Given the description of an element on the screen output the (x, y) to click on. 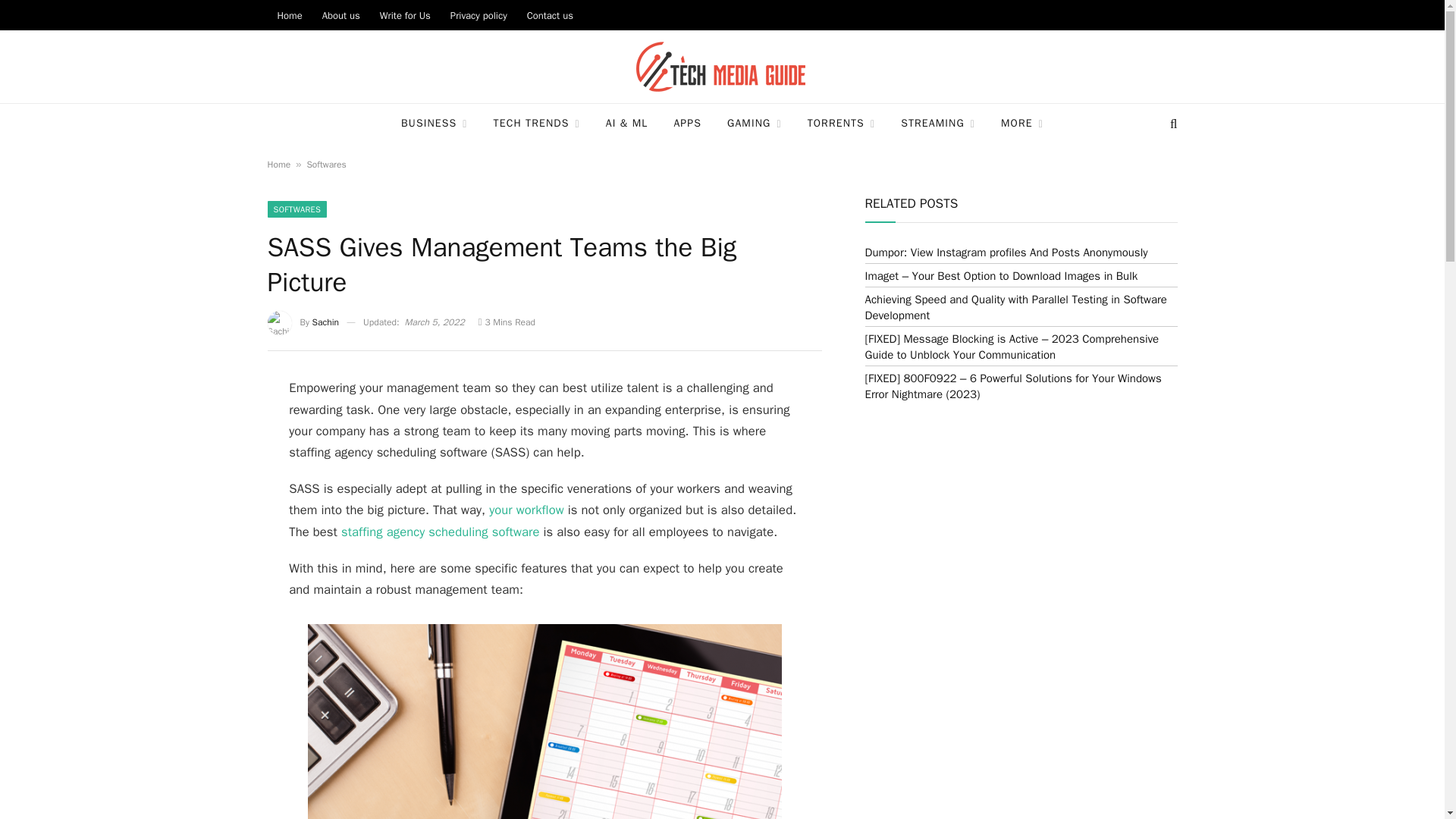
BUSINESS (434, 124)
APPS (687, 124)
TECH TRENDS (536, 124)
Privacy policy (478, 15)
STREAMING (938, 124)
MORE (1022, 124)
Posts by Sachin (326, 322)
Contact us (549, 15)
Write for Us (405, 15)
Softwares (325, 164)
GAMING (754, 124)
About us (341, 15)
Home (277, 164)
Home (288, 15)
